Given the description of an element on the screen output the (x, y) to click on. 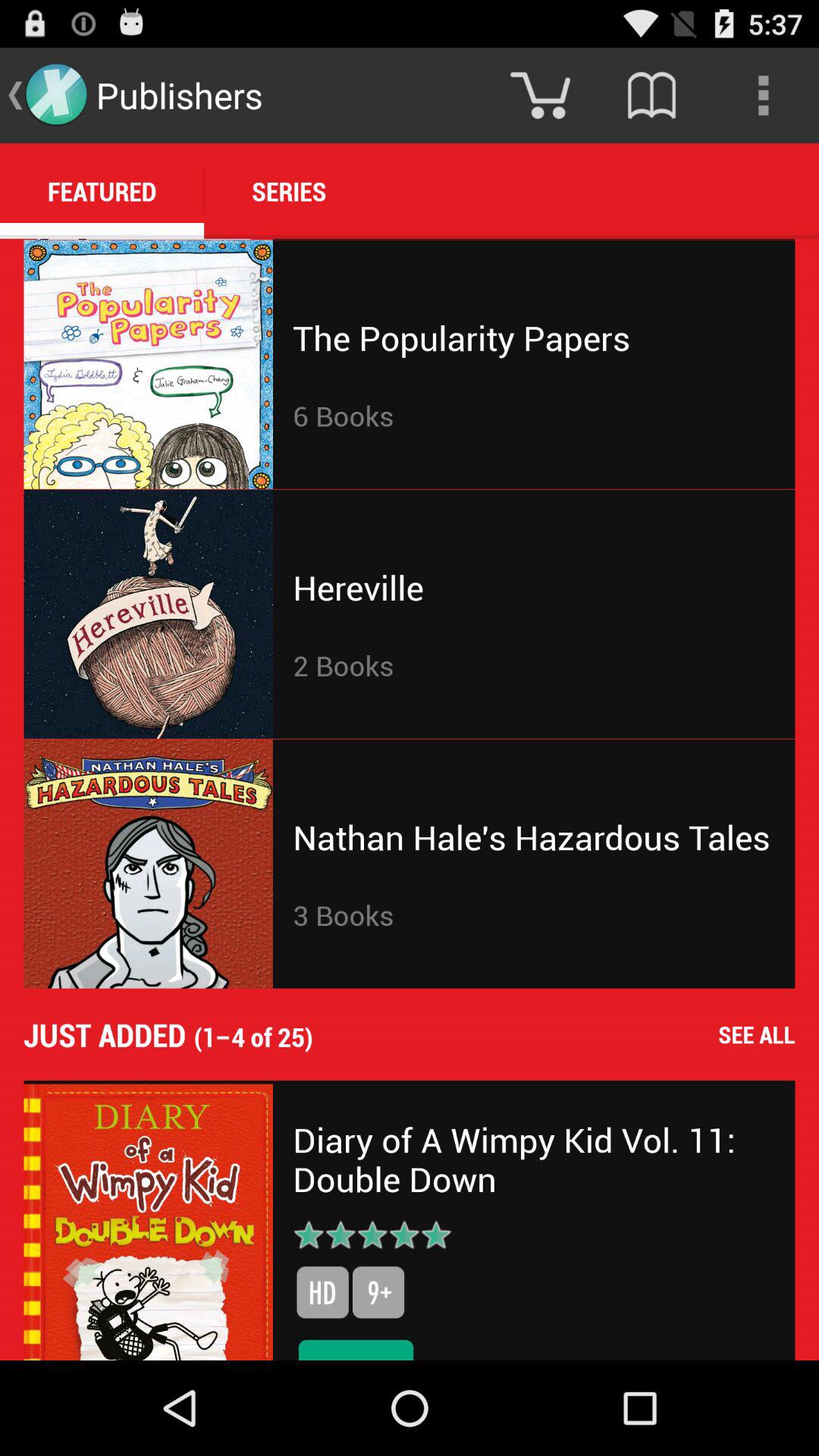
turn off the item above the $7.99 icon (322, 1292)
